Given the description of an element on the screen output the (x, y) to click on. 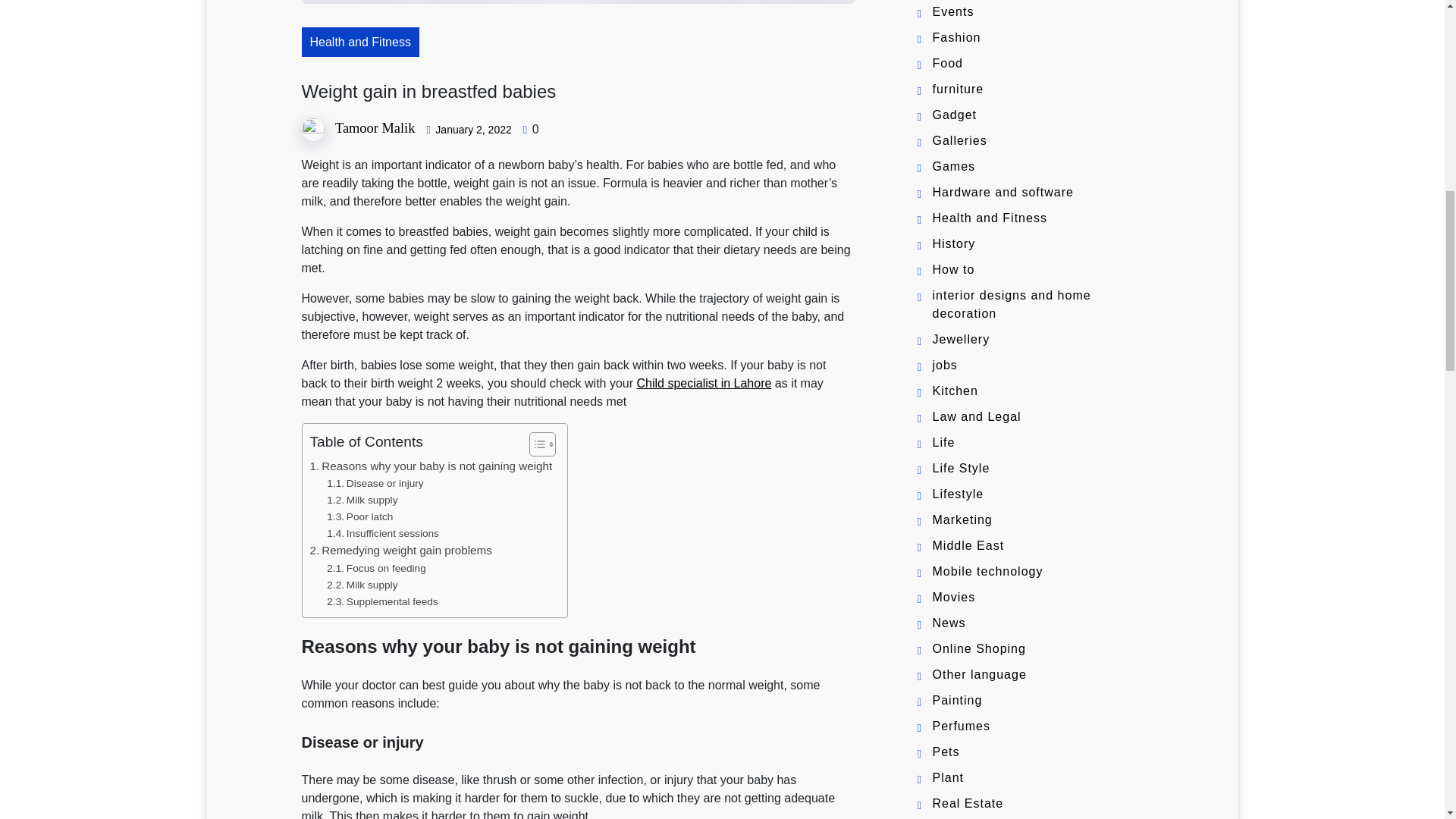
Health and Fitness (360, 41)
Focus on feeding (375, 568)
January 2, 2022 (473, 129)
Milk supply (361, 500)
Disease or injury (374, 483)
Poor latch (359, 516)
Disease or injury (374, 483)
Tamoor Malik (374, 127)
Child specialist in Lahore (704, 382)
Reasons why your baby is not gaining weight (429, 466)
Milk supply (361, 500)
Milk supply (361, 585)
Supplemental feeds (382, 601)
Reasons why your baby is not gaining weight (429, 466)
Remedying weight gain problems (400, 550)
